Given the description of an element on the screen output the (x, y) to click on. 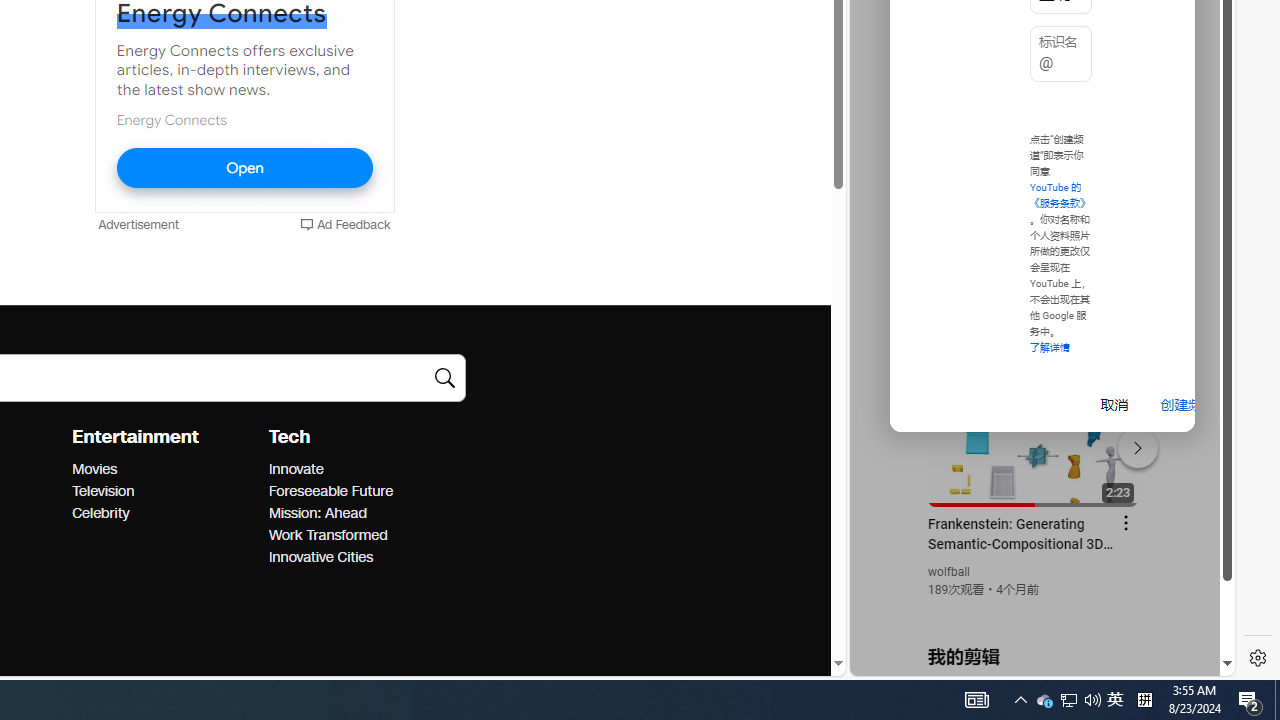
Movies (164, 469)
Entertainment Celebrity (100, 512)
Entertainment Movies (94, 469)
Television (164, 492)
Energy Connects (171, 119)
wolfball (949, 572)
Tech Mission: Ahead (317, 512)
Innovate (360, 469)
